Given the description of an element on the screen output the (x, y) to click on. 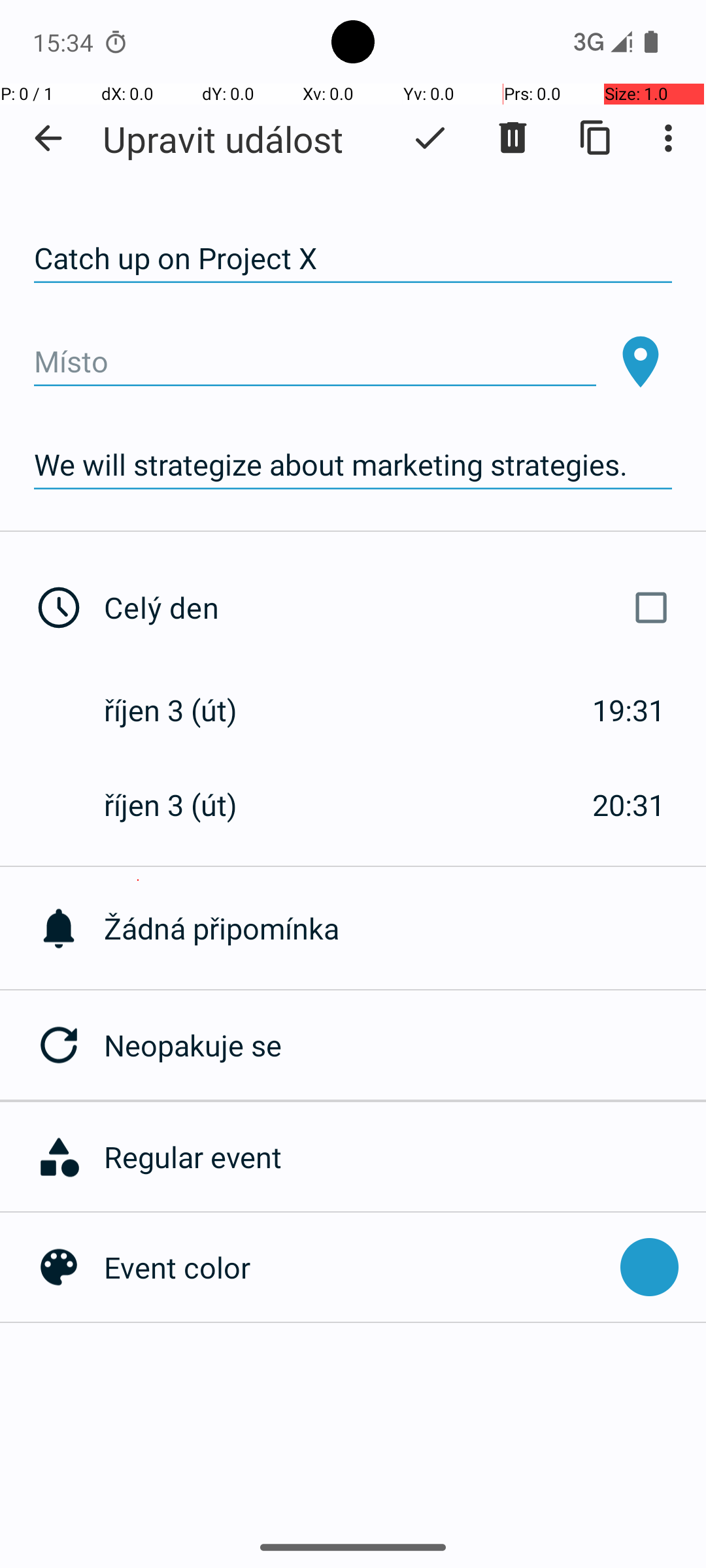
Upravit událost Element type: android.widget.TextView (222, 138)
Uložit Element type: android.widget.Button (429, 137)
Smazat Element type: android.widget.Button (512, 137)
Zkopírovat událost Element type: android.widget.Button (595, 137)
Místo Element type: android.widget.EditText (314, 361)
We will strategize about marketing strategies. Element type: android.widget.EditText (352, 465)
říjen 3 (út) Element type: android.widget.TextView (183, 709)
19:31 Element type: android.widget.TextView (628, 709)
20:31 Element type: android.widget.TextView (628, 804)
Žádná připomínka Element type: android.widget.TextView (404, 927)
Neopakuje se Element type: android.widget.TextView (404, 1044)
Celý den Element type: android.widget.CheckBox (390, 607)
